Given the description of an element on the screen output the (x, y) to click on. 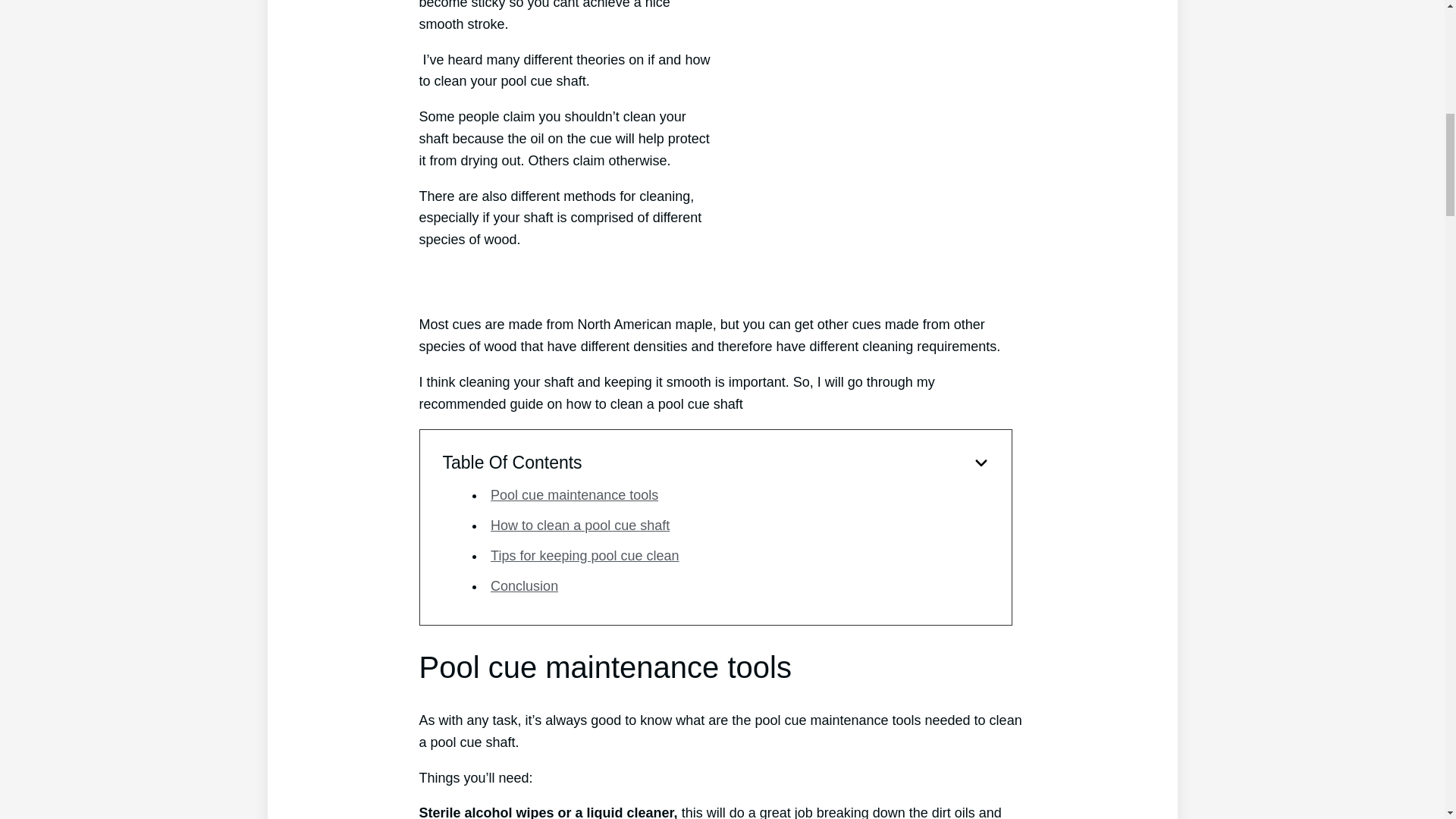
Pool cue maintenance tools (574, 494)
How to clean a pool cue shaft (579, 525)
Tips for keeping pool cue clean (584, 555)
Conclusion (523, 585)
